Given the description of an element on the screen output the (x, y) to click on. 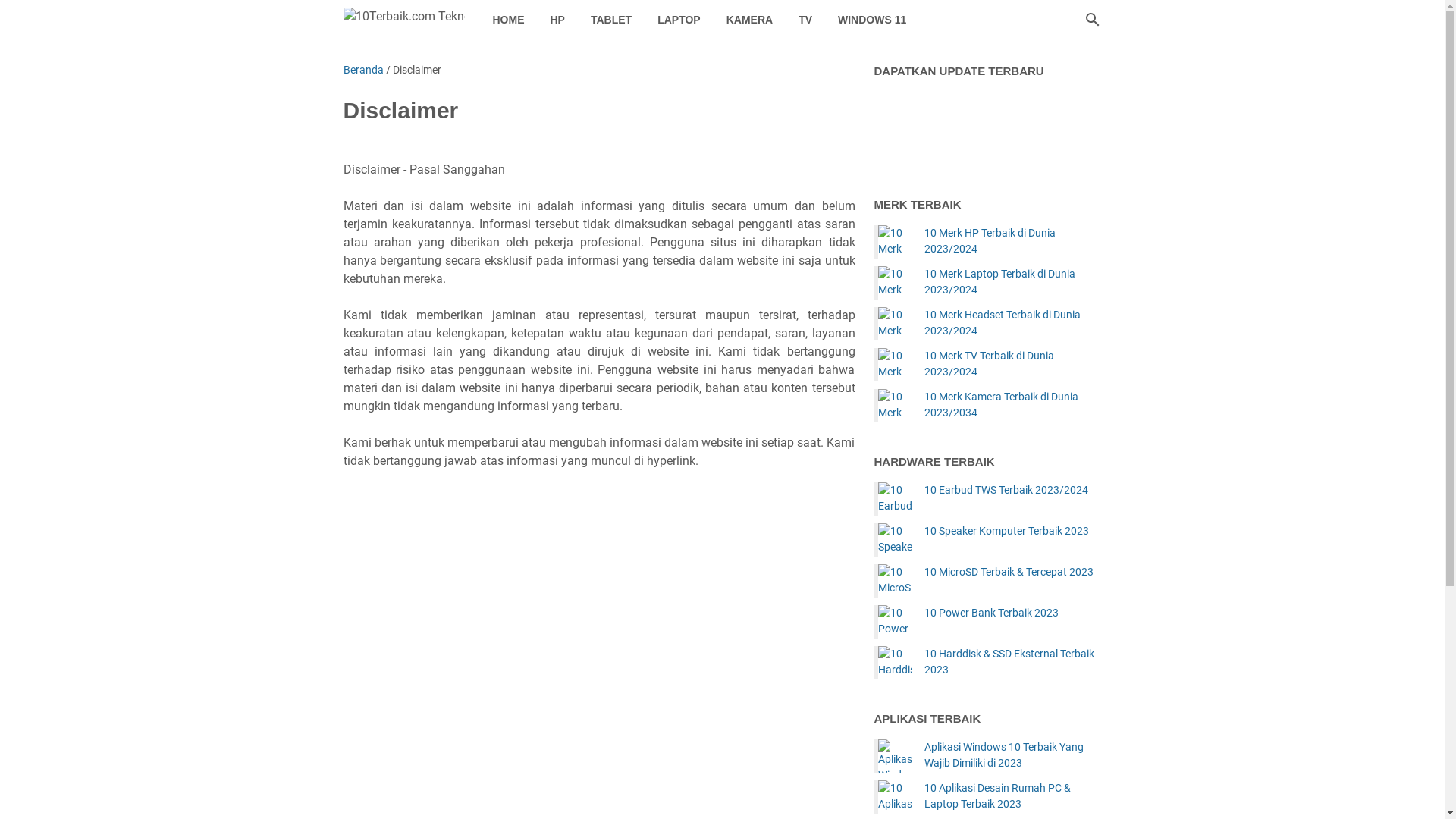
LAPTOP Element type: text (678, 19)
10 Speaker Komputer Terbaik 2023 Element type: text (1005, 531)
10Terbaik.com Tekno Element type: hover (403, 19)
HOME Element type: text (507, 19)
WINDOWS 11 Element type: text (872, 19)
Aplikasi Windows 10 Terbaik Yang Wajib Dimiliki di 2023 Element type: text (1012, 755)
10 MicroSD Terbaik & Tercepat 2023 Element type: text (1007, 572)
10 Merk Laptop Terbaik di Dunia 2023/2024 Element type: hover (894, 282)
10 Aplikasi Desain Rumah PC & Laptop Terbaik 2023 Element type: text (1012, 796)
10 Merk TV Terbaik di Dunia 2023/2024 Element type: text (1012, 363)
10 Harddisk & SSD Eksternal Terbaik 2023 Element type: text (1012, 661)
KAMERA Element type: text (749, 19)
10 Speaker Komputer Terbaik 2023 Element type: hover (894, 539)
TV Element type: text (805, 19)
10 Aplikasi Desain Rumah PC & Laptop Terbaik 2023 Element type: hover (894, 796)
10 Merk Kamera Terbaik di Dunia 2023/2034 Element type: text (1012, 404)
10 Harddisk & SSD Eksternal Terbaik 2023 Element type: hover (894, 662)
HP Element type: text (556, 19)
10 Merk TV Terbaik di Dunia 2023/2024 Element type: hover (894, 364)
Cari blog ini Element type: hover (1091, 19)
TABLET Element type: text (610, 19)
10 Merk Kamera Terbaik di Dunia 2023/2034 Element type: hover (894, 405)
Aplikasi Windows 10 Terbaik Yang Wajib Dimiliki di 2023 Element type: hover (894, 755)
10 Merk Headset Terbaik di Dunia 2023/2024 Element type: text (1012, 322)
10 Merk Headset Terbaik di Dunia 2023/2024 Element type: hover (894, 323)
10 Earbud TWS Terbaik 2023/2024 Element type: hover (894, 498)
10 Merk HP Terbaik di Dunia 2023/2024 Element type: text (1012, 241)
10 Merk Laptop Terbaik di Dunia 2023/2024 Element type: text (1012, 282)
10 Merk HP Terbaik di Dunia 2023/2024 Element type: hover (894, 241)
10 MicroSD Terbaik & Tercepat 2023 Element type: hover (894, 580)
10 Earbud TWS Terbaik 2023/2024 Element type: text (1005, 490)
Beranda Element type: text (362, 69)
10 Power Bank Terbaik 2023 Element type: hover (894, 621)
10 Power Bank Terbaik 2023 Element type: text (990, 613)
